Given the description of an element on the screen output the (x, y) to click on. 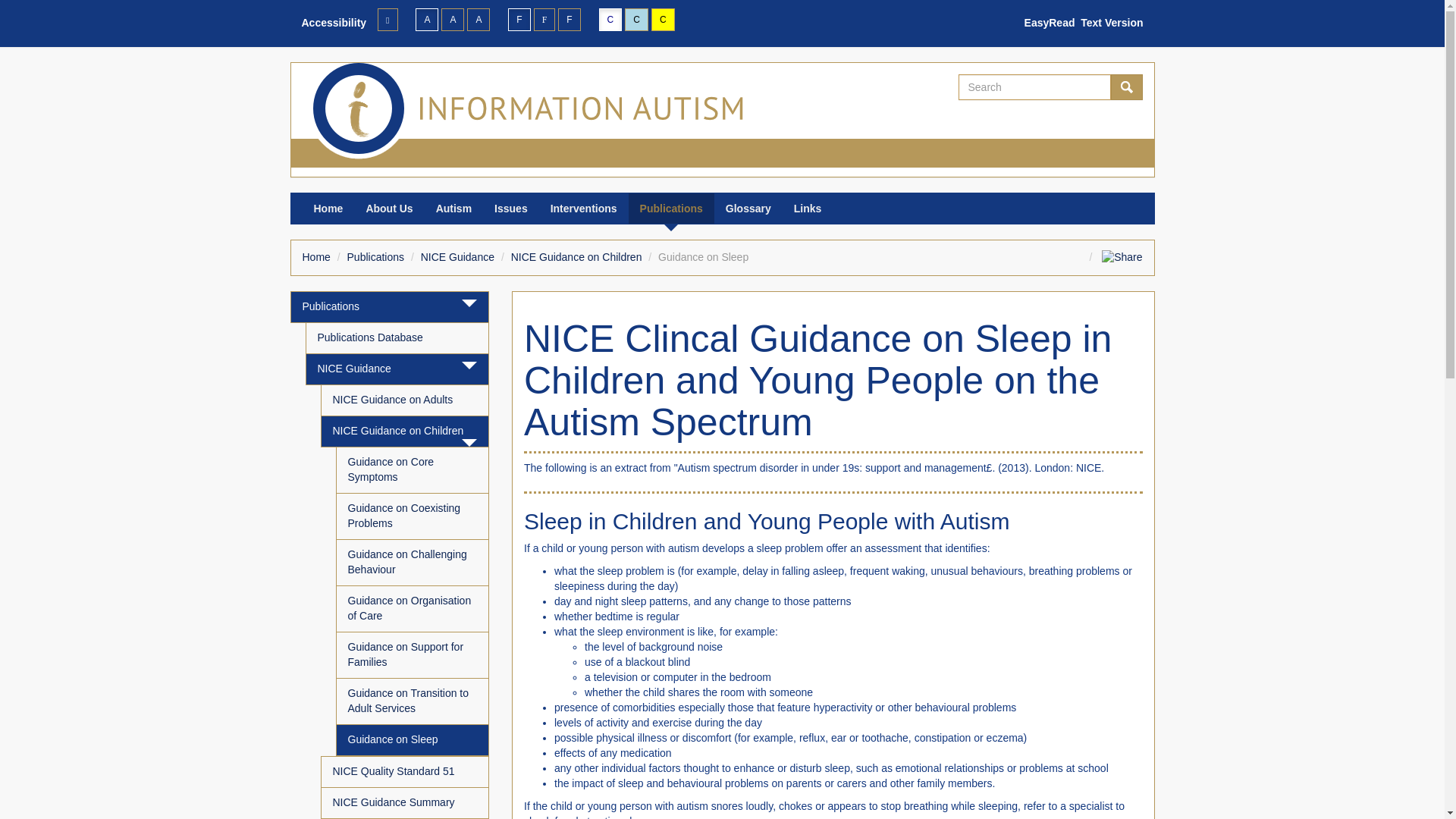
Publications Database (396, 337)
Publications (671, 208)
About Us (388, 208)
NICE Guidance on Adults (404, 400)
Glossary (748, 208)
A (426, 19)
A (452, 19)
Autism (454, 208)
NICE Guidance (457, 256)
F (518, 19)
Guidance on Core Symptoms (411, 469)
C (610, 19)
Set the font to Arial (518, 19)
Set the font size to large (452, 19)
Interventions (583, 208)
